Given the description of an element on the screen output the (x, y) to click on. 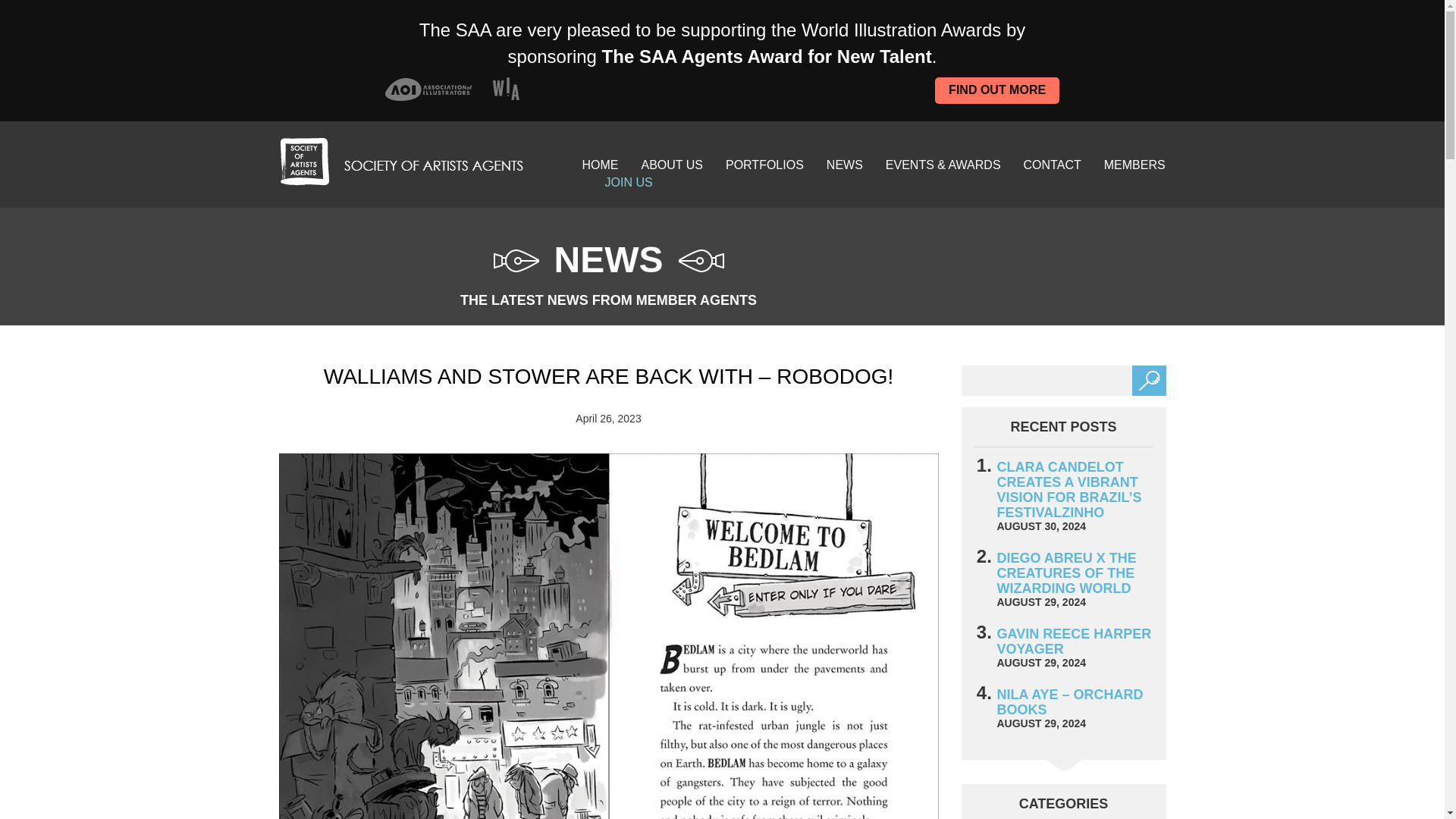
PORTFOLIOS (764, 164)
HOME (598, 164)
JOIN US (628, 182)
CONTACT (1052, 164)
ABOUT US (671, 164)
DIEGO ABREU X THE CREATURES OF THE WIZARDING WORLD (1065, 573)
NEWS (845, 164)
FIND OUT MORE (996, 90)
MEMBERS (1134, 164)
GAVIN REECE HARPER VOYAGER (1073, 641)
